Given the description of an element on the screen output the (x, y) to click on. 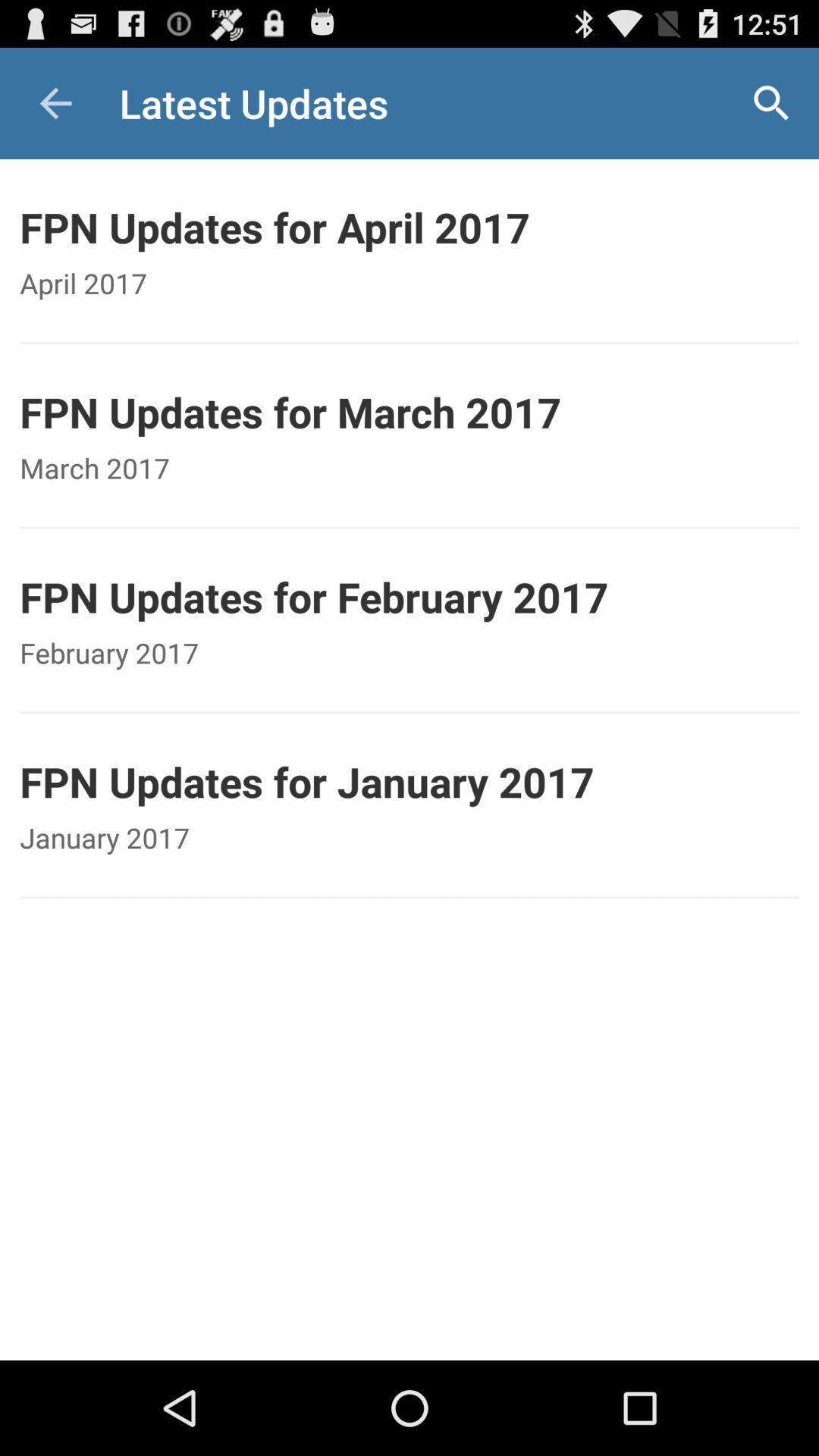
select the app next to the latest updates app (55, 103)
